Given the description of an element on the screen output the (x, y) to click on. 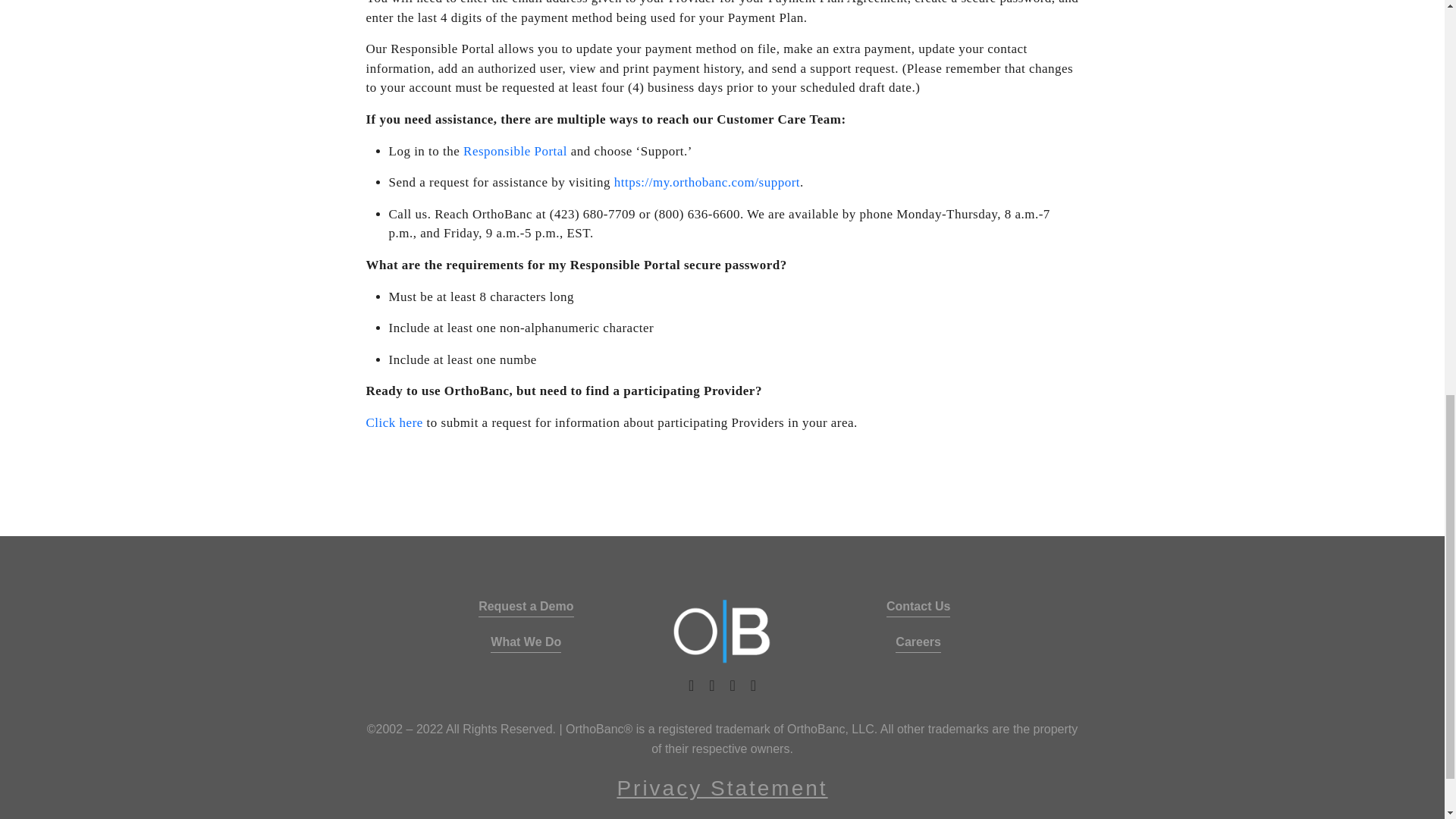
Click here (393, 423)
Careers (917, 642)
Contact Us (918, 607)
Responsible Portal (515, 151)
Request a Demo (526, 607)
Privacy Statement (721, 788)
What We Do (525, 642)
